Given the description of an element on the screen output the (x, y) to click on. 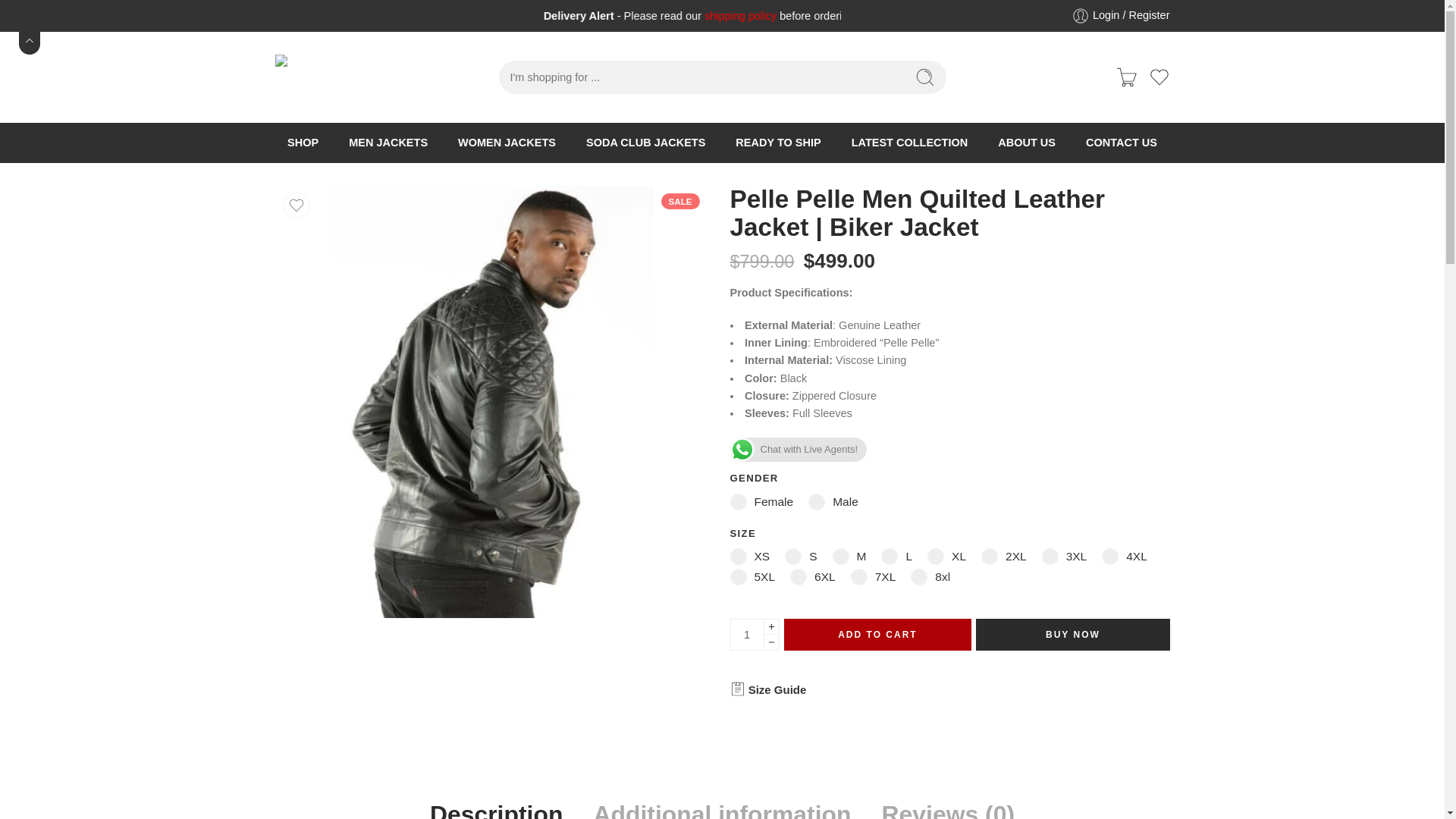
MEN JACKETS (388, 142)
READY TO SHIP (778, 142)
1 (745, 634)
XL (946, 556)
LATEST COLLECTION (909, 142)
CONTACT US (1121, 142)
WOMEN JACKETS (507, 142)
READY TO SHIP (778, 142)
ABOUT US (1026, 142)
5XL (751, 576)
Male (833, 501)
3XL (1064, 556)
8xl (930, 576)
L (896, 556)
ABOUT US (1026, 142)
